Given the description of an element on the screen output the (x, y) to click on. 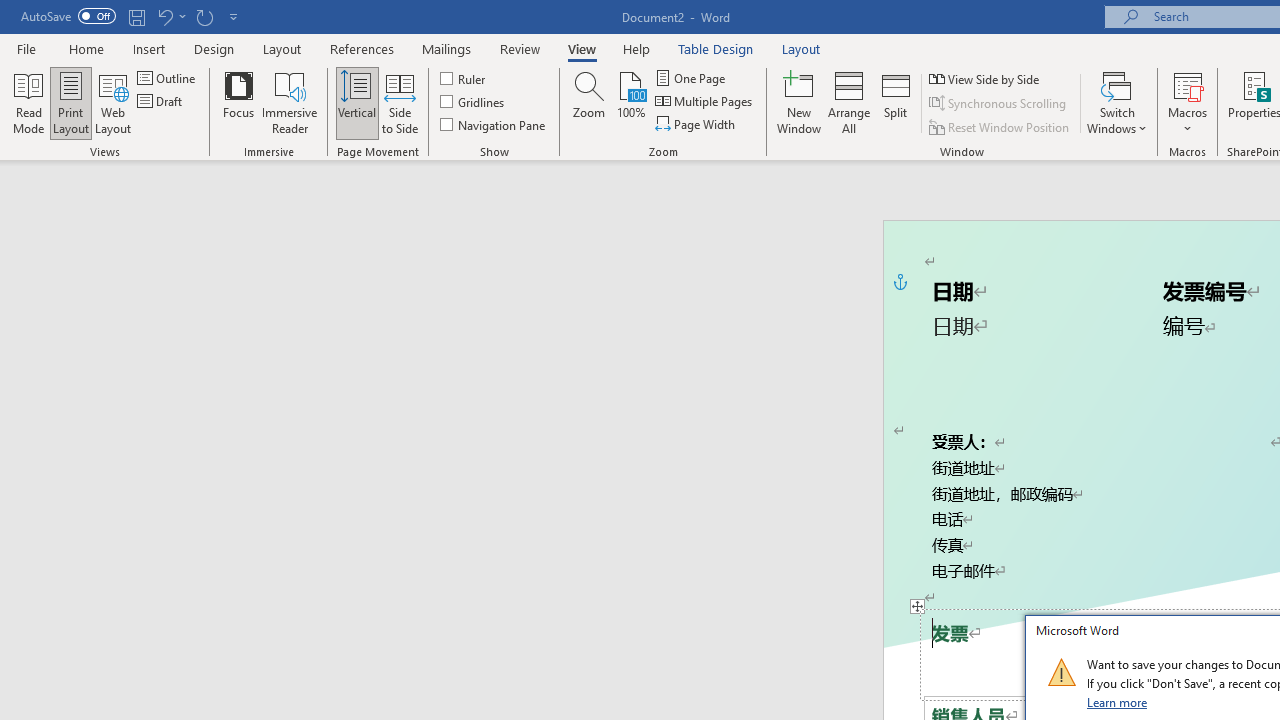
New Window (799, 102)
Ruler (463, 78)
Gridlines (473, 101)
Synchronous Scrolling (998, 103)
View Side by Side (985, 78)
Reset Window Position (1000, 126)
Draft (161, 101)
Outline (168, 78)
One Page (691, 78)
Multiple Pages (705, 101)
